Given the description of an element on the screen output the (x, y) to click on. 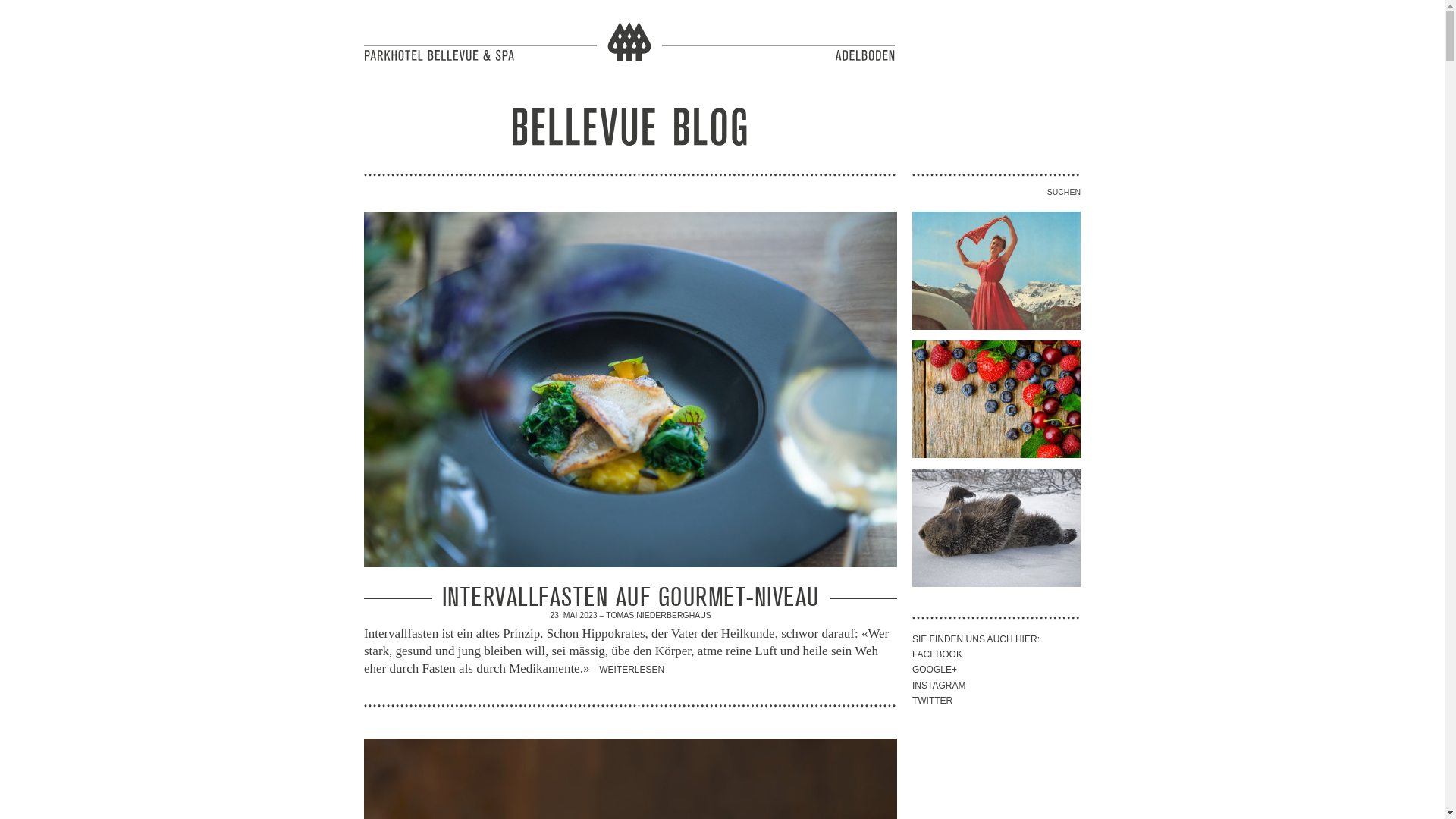
SUCHEN Element type: text (996, 185)
INSTAGRAM Element type: text (938, 685)
TWITTER Element type: text (932, 700)
FACEBOOK Element type: text (937, 654)
WEITERLESEN Element type: text (631, 669)
GOOGLE+ Element type: text (934, 669)
